Given the description of an element on the screen output the (x, y) to click on. 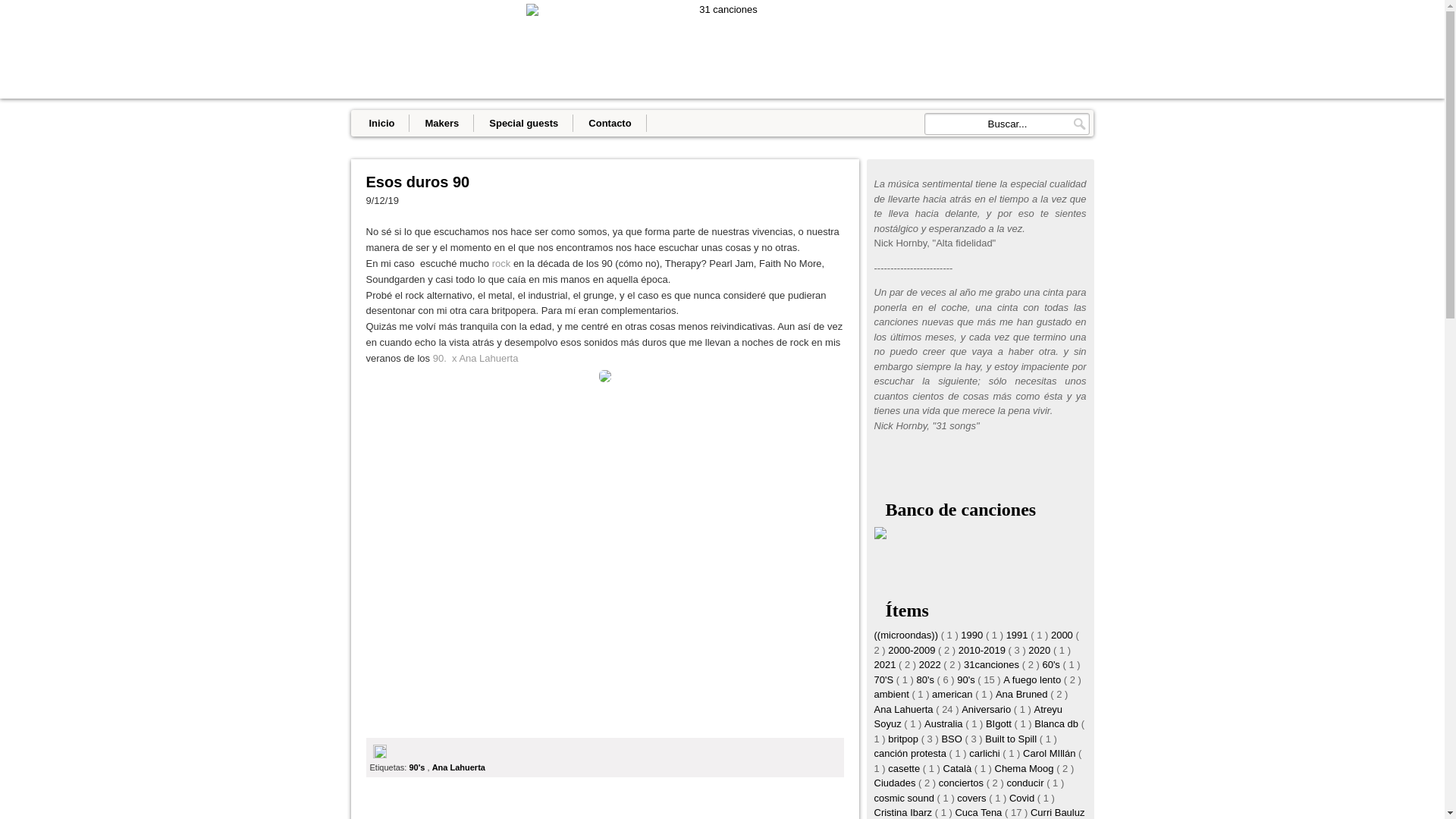
Esos duros 90 Element type: text (604, 182)
britpop Element type: text (904, 738)
90's Element type: text (417, 766)
Cristina Ibarz Element type: text (903, 812)
Editar entrada Element type: hover (379, 754)
carlichi Element type: text (985, 753)
Ana Lahuerta Element type: text (904, 709)
Cuca Tena Element type: text (979, 812)
Contacto Element type: text (609, 122)
Covid Element type: text (1023, 797)
Atreyu Soyuz Element type: text (967, 716)
american Element type: text (953, 693)
2020 Element type: text (1040, 649)
Special guests Element type: text (523, 122)
2021 Element type: text (885, 664)
Chema Moog Element type: text (1025, 768)
Aniversario Element type: text (987, 709)
conciertos Element type: text (962, 782)
cosmic sound Element type: text (904, 797)
Curri Bauluz Element type: text (1057, 812)
1991 Element type: text (1018, 634)
Ana Lahuerta Element type: text (458, 766)
conducir Element type: text (1026, 782)
Makers Element type: text (441, 122)
((microondas)) Element type: text (906, 634)
Ciudades Element type: text (895, 782)
Built to Spill Element type: text (1012, 738)
A fuego lento Element type: text (1033, 679)
2000 Element type: text (1063, 634)
2000-2009 Element type: text (913, 649)
80's Element type: text (926, 679)
BIgott Element type: text (999, 723)
Blanca db Element type: text (1057, 723)
2010-2019 Element type: text (983, 649)
60's Element type: text (1051, 664)
2022 Element type: text (931, 664)
70'S Element type: text (884, 679)
Ana Bruned Element type: text (1022, 693)
ambient Element type: text (892, 693)
1990 Element type: text (972, 634)
Australia Element type: text (944, 723)
31canciones Element type: text (992, 664)
Inicio Element type: text (381, 122)
casette Element type: text (905, 768)
90's Element type: text (967, 679)
BSO Element type: text (952, 738)
covers Element type: text (972, 797)
